Given the description of an element on the screen output the (x, y) to click on. 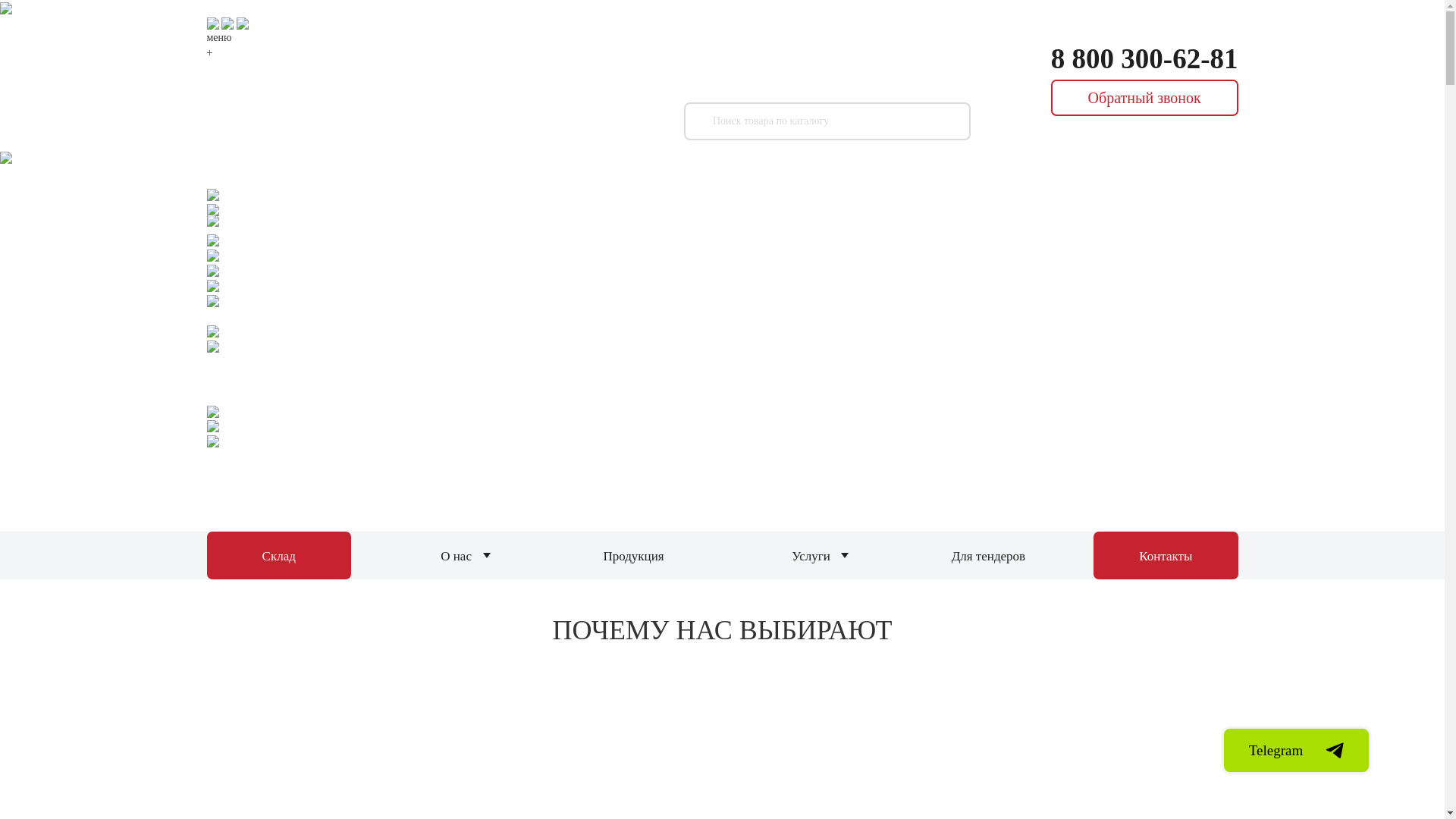
  Element type: text (379, 89)
Telegram Element type: text (1295, 749)
  Element type: text (1264, 125)
  Element type: text (1264, 101)
  Element type: text (1264, 28)
  Element type: text (1418, 230)
  Element type: text (1264, 77)
  Element type: text (1264, 53)
8 800 300-62-81 Element type: text (1144, 59)
